Given the description of an element on the screen output the (x, y) to click on. 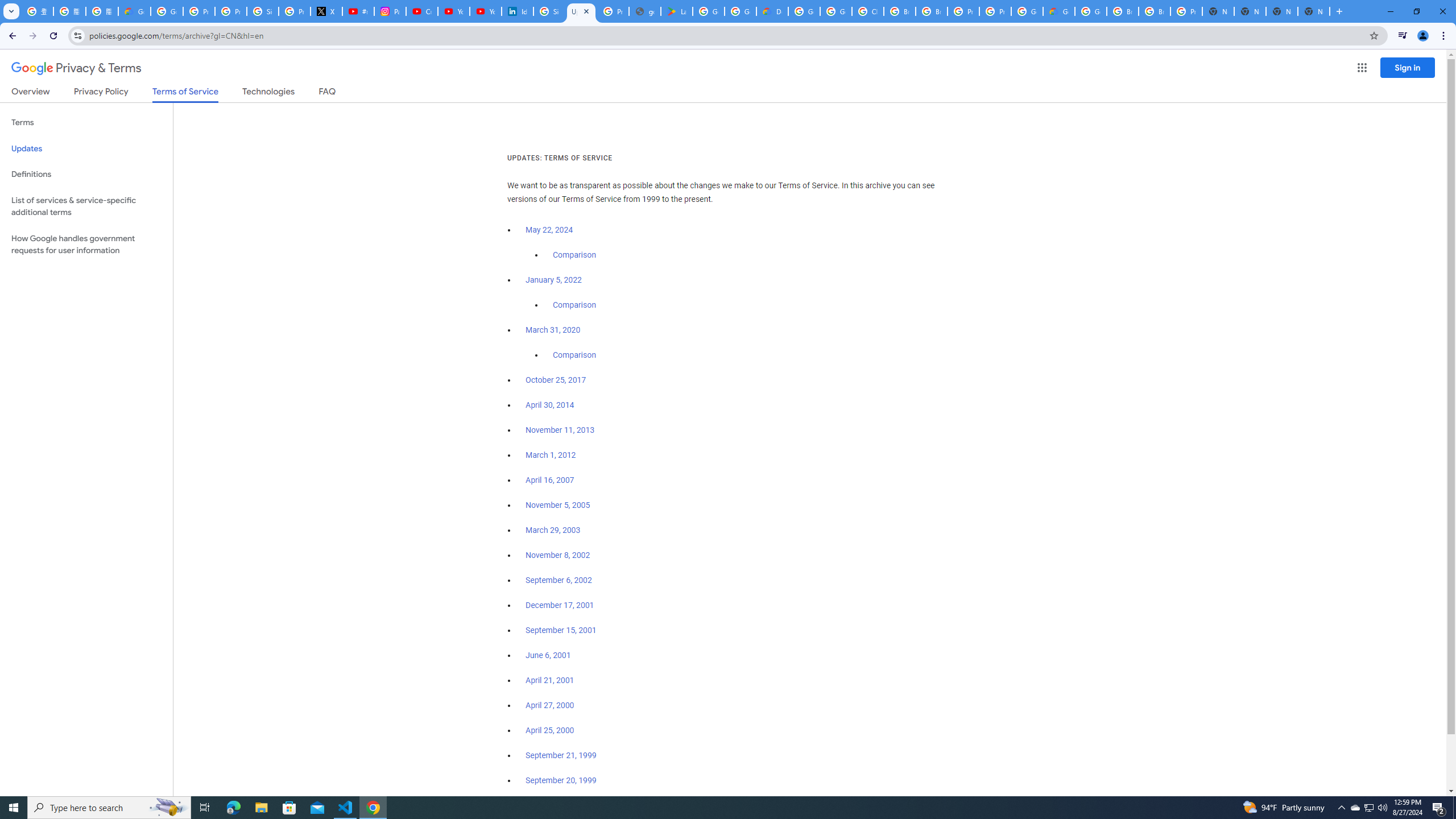
April 21, 2001 (550, 679)
April 25, 2000 (550, 729)
New Tab (1313, 11)
Google Cloud Platform (804, 11)
Google Cloud Privacy Notice (134, 11)
Browse Chrome as a guest - Computer - Google Chrome Help (1123, 11)
March 31, 2020 (552, 330)
Google Cloud Estimate Summary (1059, 11)
